Given the description of an element on the screen output the (x, y) to click on. 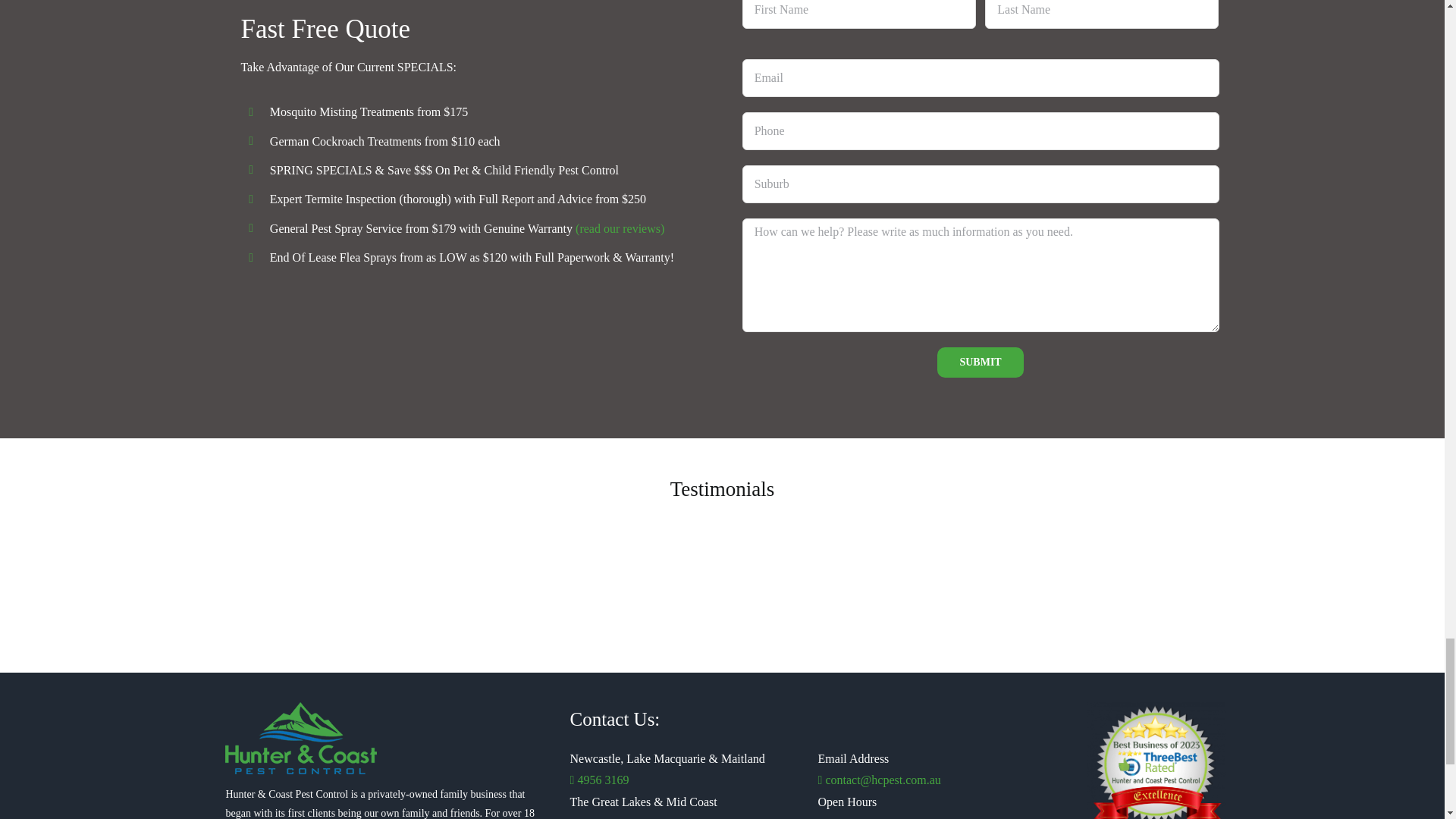
SUBMIT (980, 362)
